Given the description of an element on the screen output the (x, y) to click on. 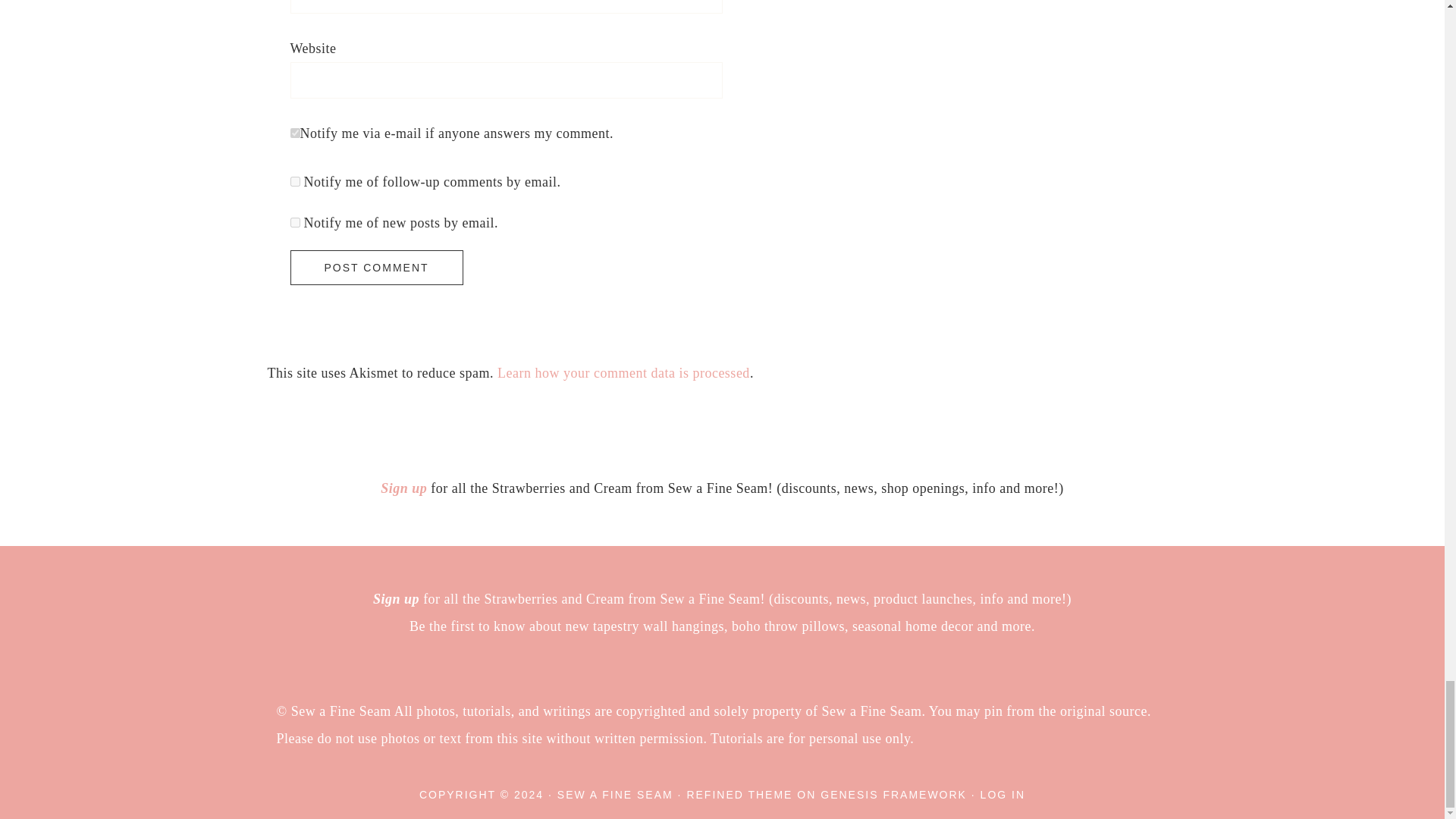
Post Comment (376, 267)
subscribe (294, 222)
on (294, 132)
subscribe (294, 181)
